Given the description of an element on the screen output the (x, y) to click on. 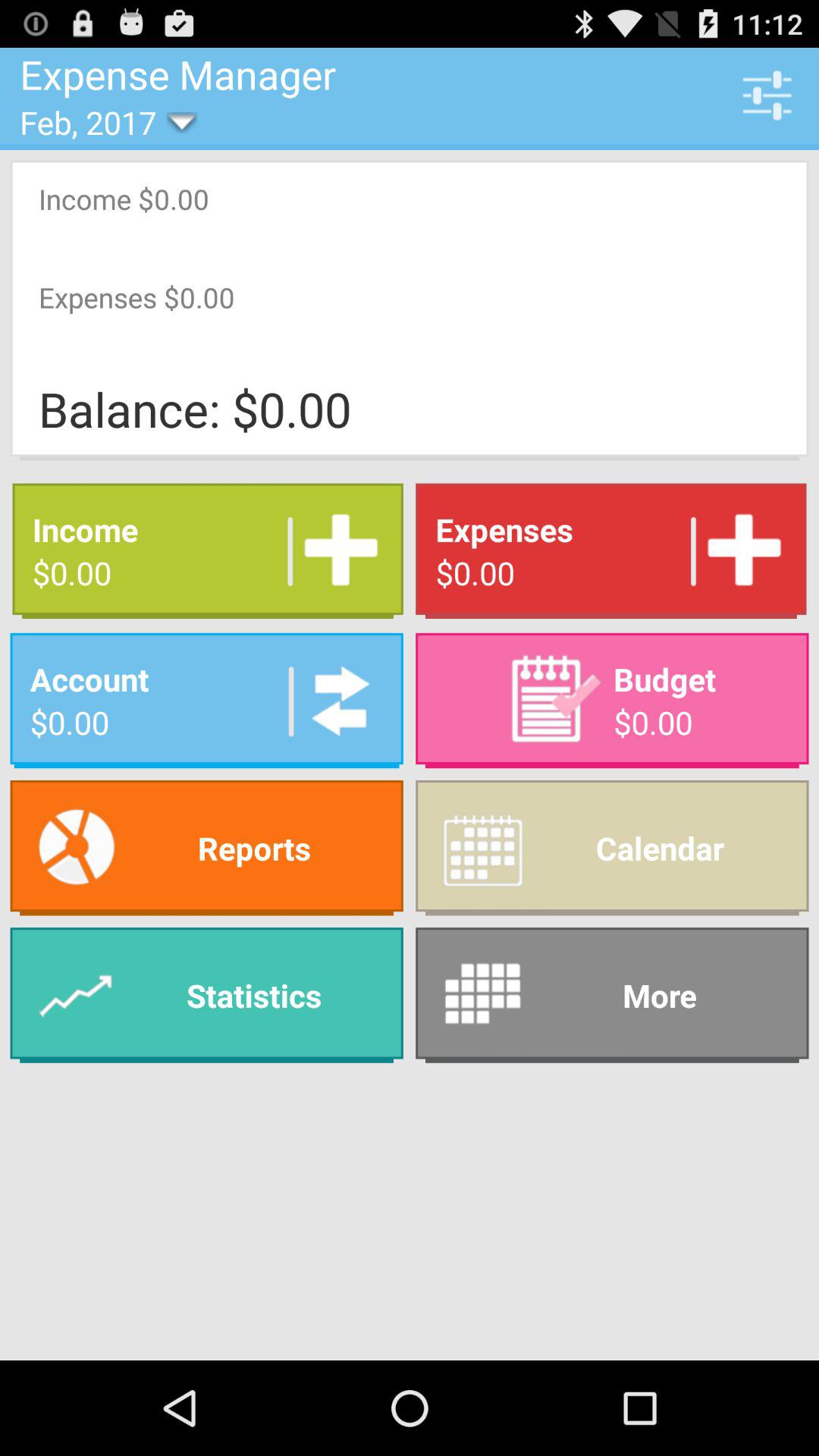
toggle to add option (335, 550)
